Given the description of an element on the screen output the (x, y) to click on. 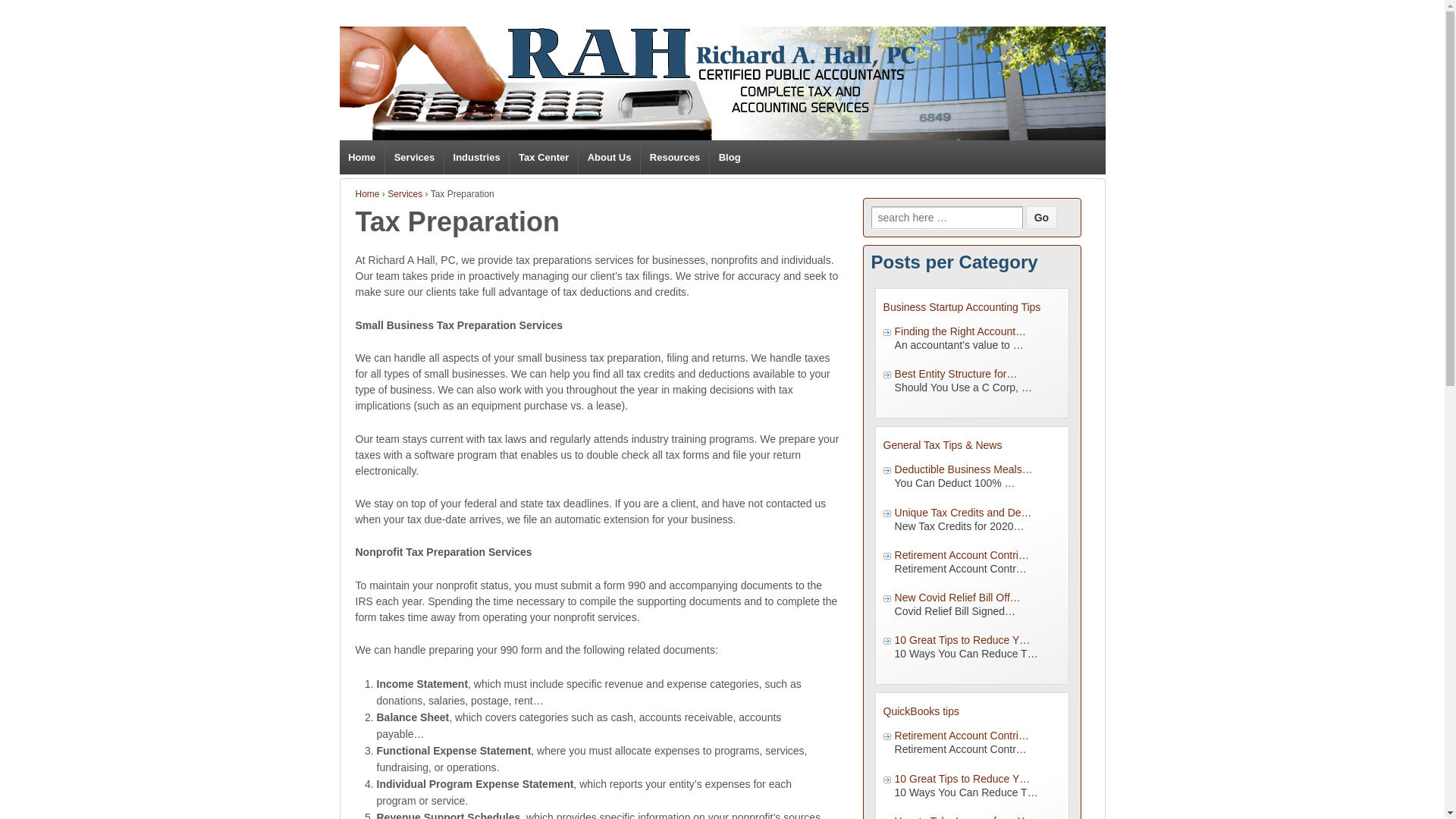
Resources (674, 157)
Tax Center (543, 157)
QuickBooks tips (921, 710)
Home (366, 194)
Services (404, 194)
Business Startup Accounting Tips (962, 307)
